Given the description of an element on the screen output the (x, y) to click on. 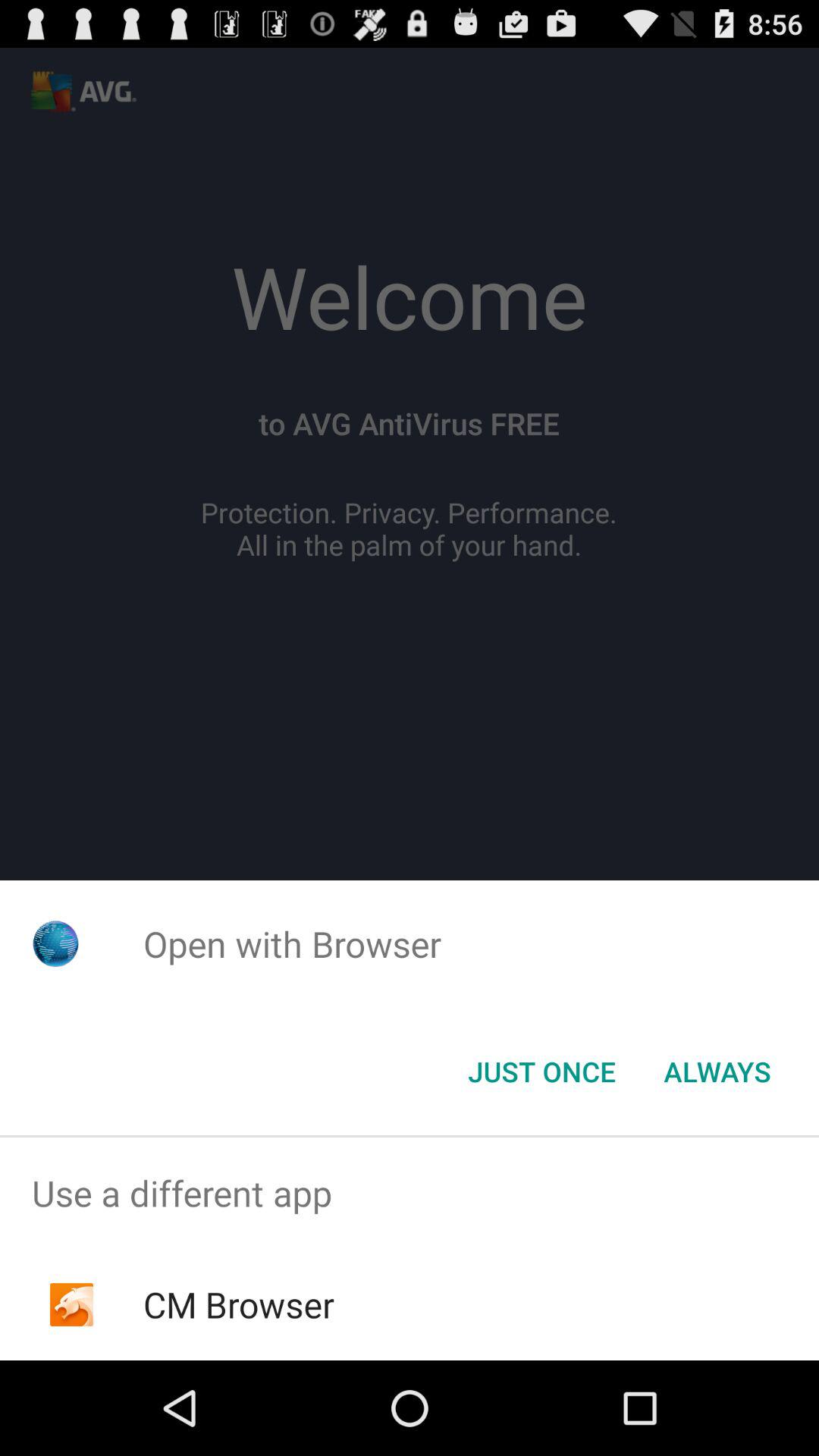
launch the button to the left of the always button (541, 1071)
